Given the description of an element on the screen output the (x, y) to click on. 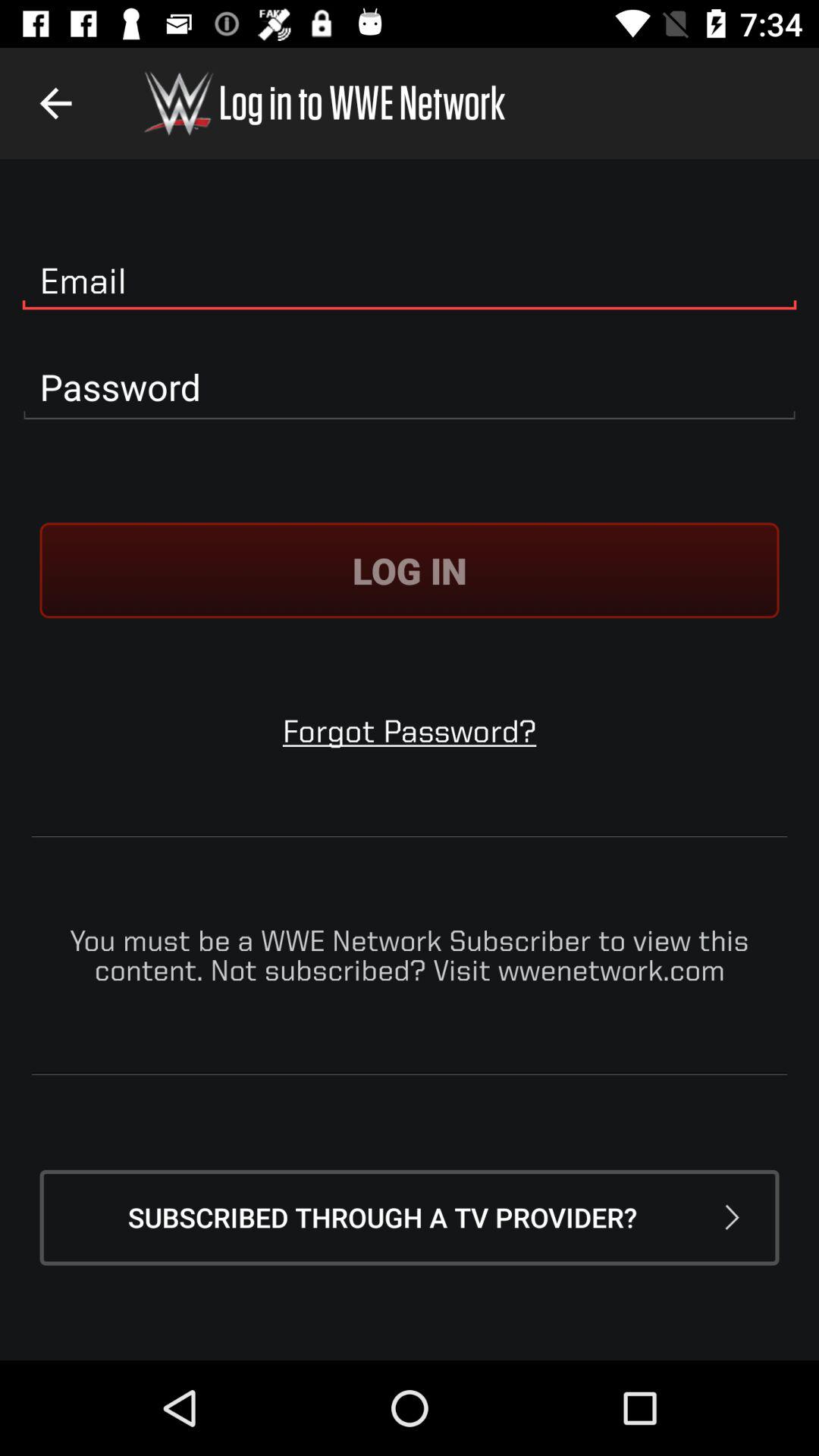
email login (409, 281)
